Given the description of an element on the screen output the (x, y) to click on. 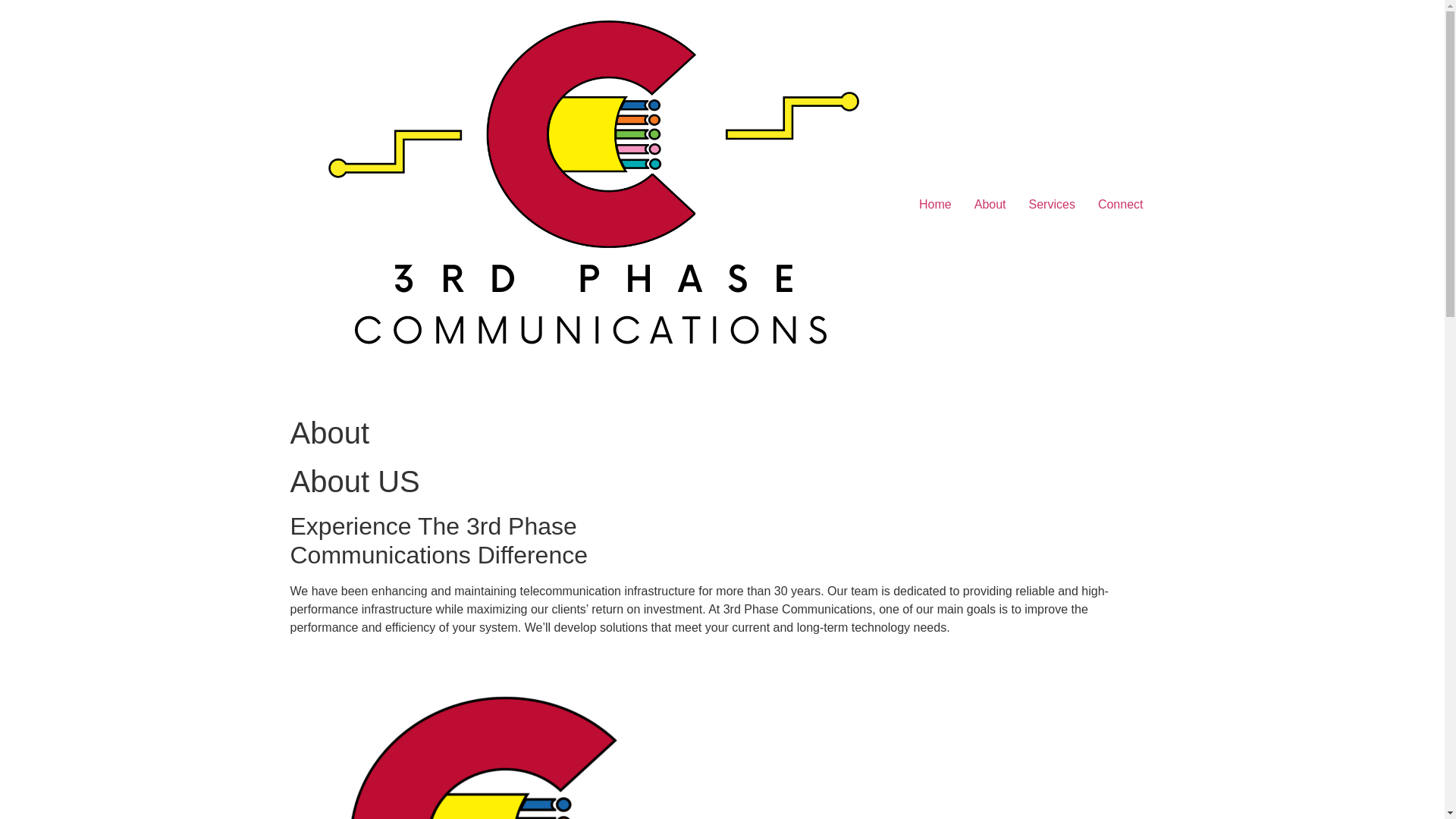
Services Element type: text (1051, 204)
Home Element type: text (935, 204)
About Element type: text (990, 204)
Connect Element type: text (1120, 204)
